Given the description of an element on the screen output the (x, y) to click on. 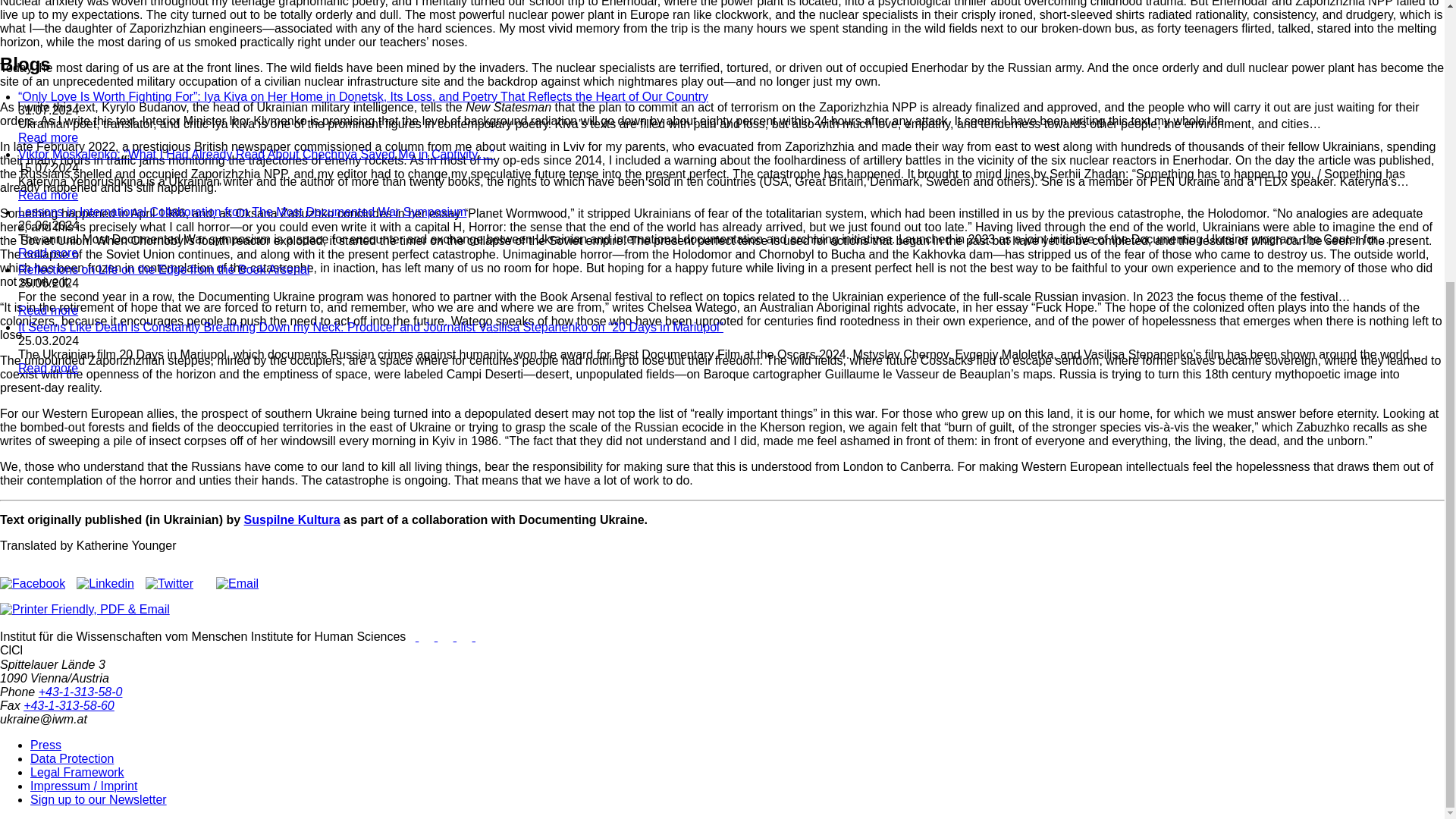
Facebook (32, 583)
Email (237, 583)
Click and drag to move (17, 649)
Twitter (169, 583)
Linkedin (105, 583)
Suspilne Kultura (292, 519)
Press (45, 744)
Click and drag to move (5, 649)
